Given the description of an element on the screen output the (x, y) to click on. 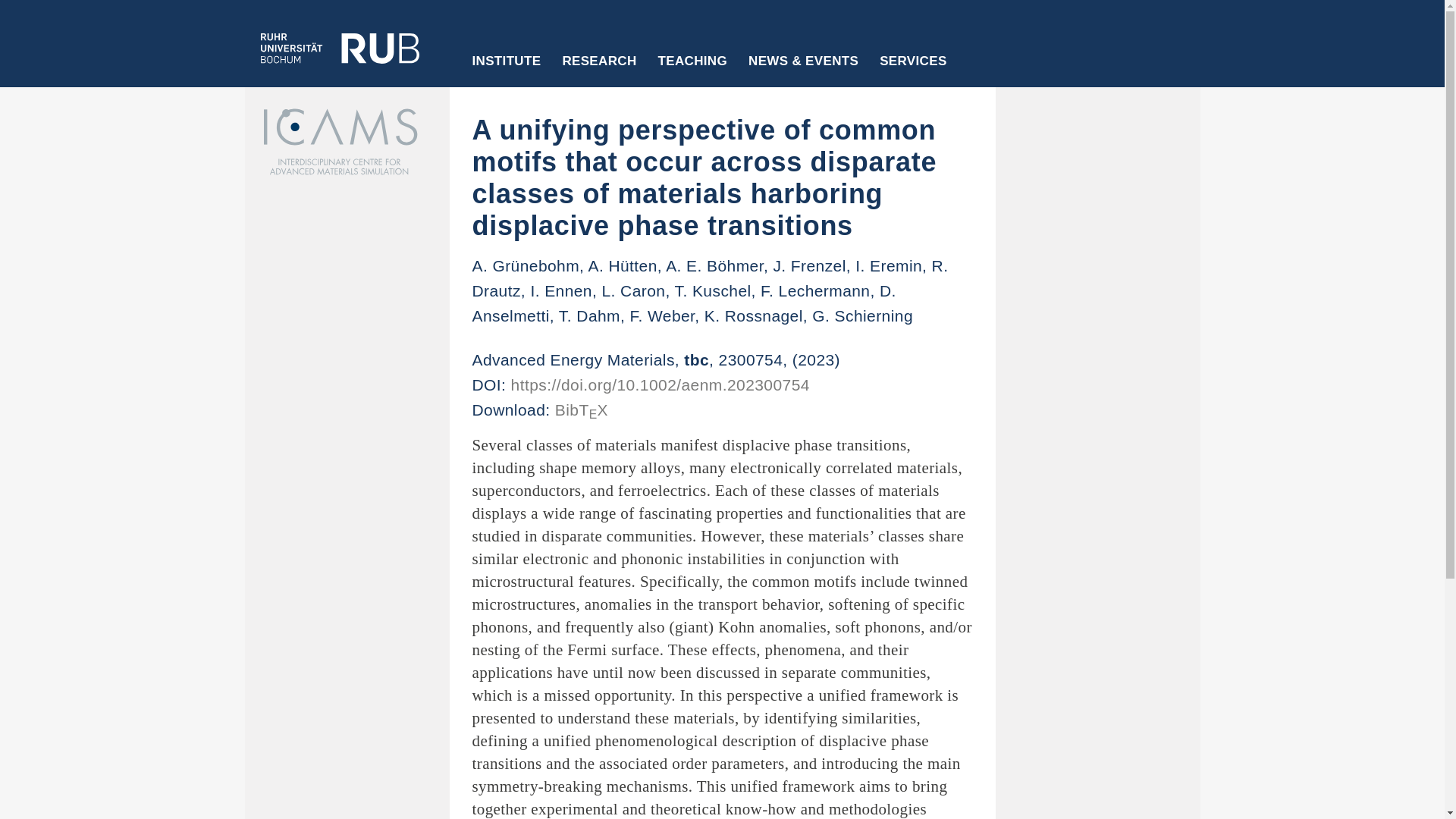
RESEARCH (598, 70)
INSTITUTE (506, 70)
TEACHING (692, 70)
